Given the description of an element on the screen output the (x, y) to click on. 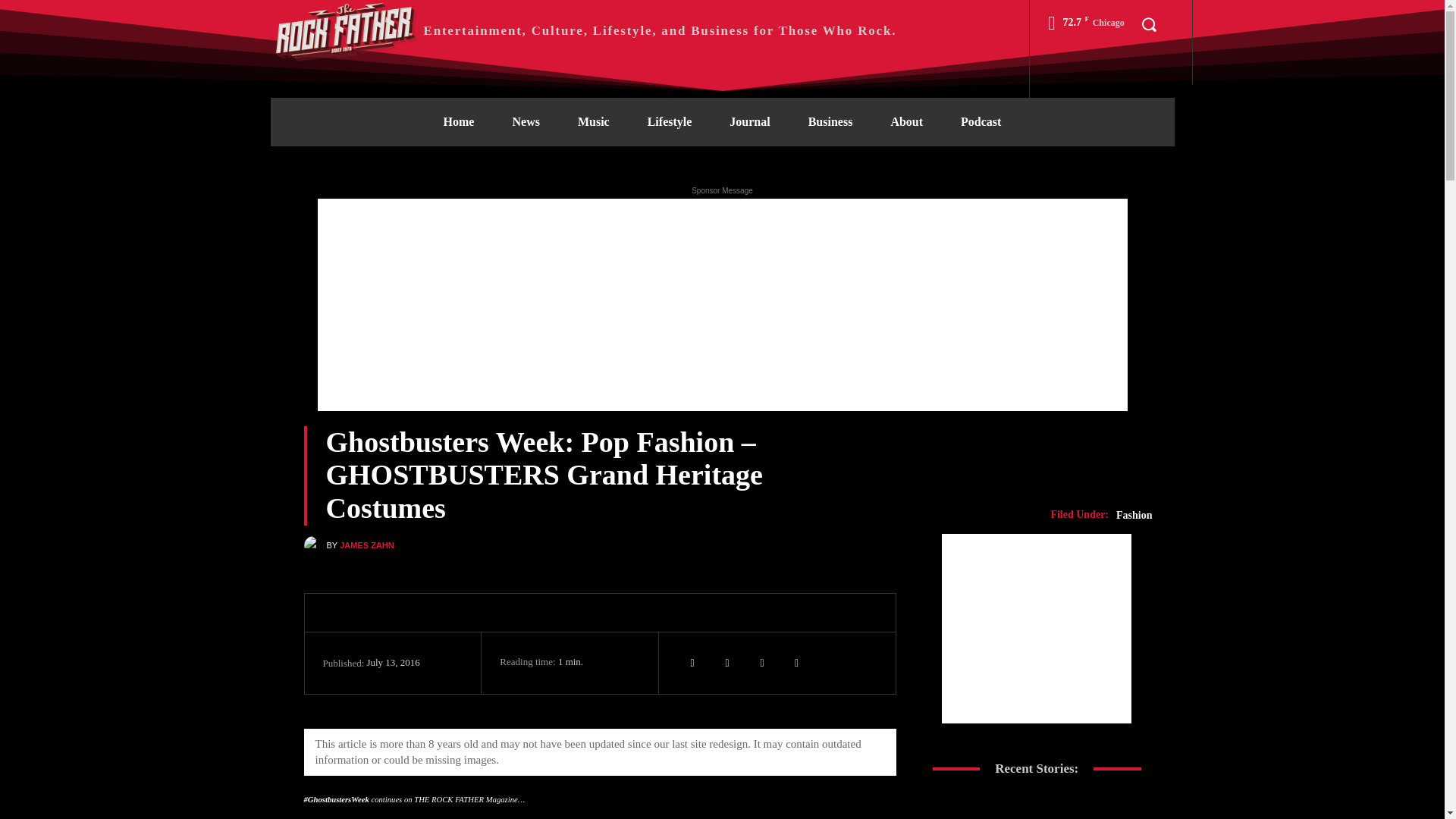
News (525, 121)
Twitter (692, 662)
Linkedin (726, 662)
Music (593, 121)
Lifestyle (669, 121)
ReddIt (796, 662)
Home (459, 121)
The Rock Father (345, 30)
James Zahn (314, 545)
The Rock Father (582, 30)
Facebook (761, 662)
